Given the description of an element on the screen output the (x, y) to click on. 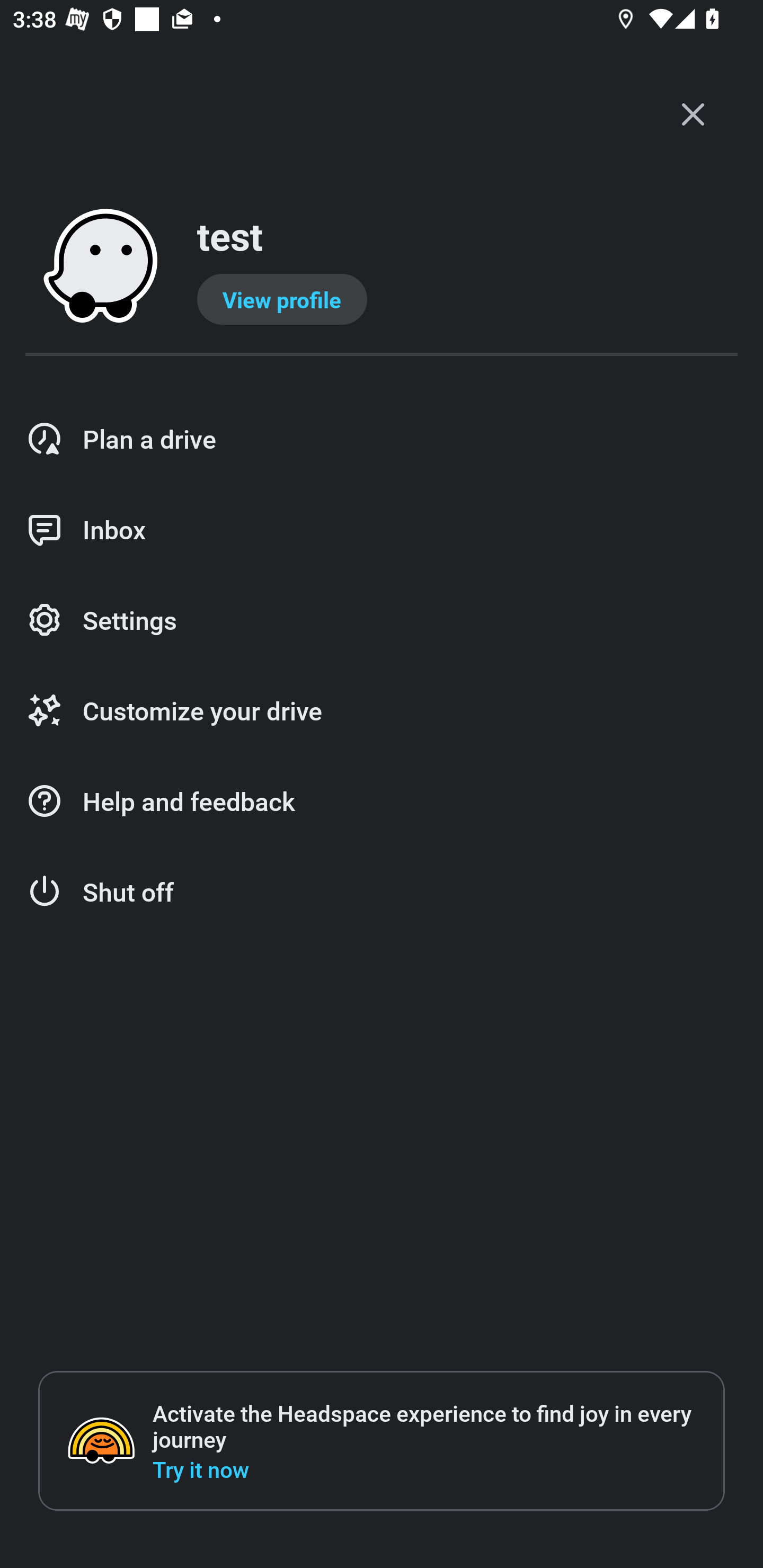
test View profile (381, 266)
View profile (281, 299)
ACTION_CELL_ICON Plan a drive ACTION_CELL_TEXT (381, 438)
ACTION_CELL_ICON Inbox ACTION_CELL_TEXT (381, 529)
ACTION_CELL_ICON Settings ACTION_CELL_TEXT (381, 620)
ACTION_CELL_ICON Shut off ACTION_CELL_TEXT (381, 891)
